Given the description of an element on the screen output the (x, y) to click on. 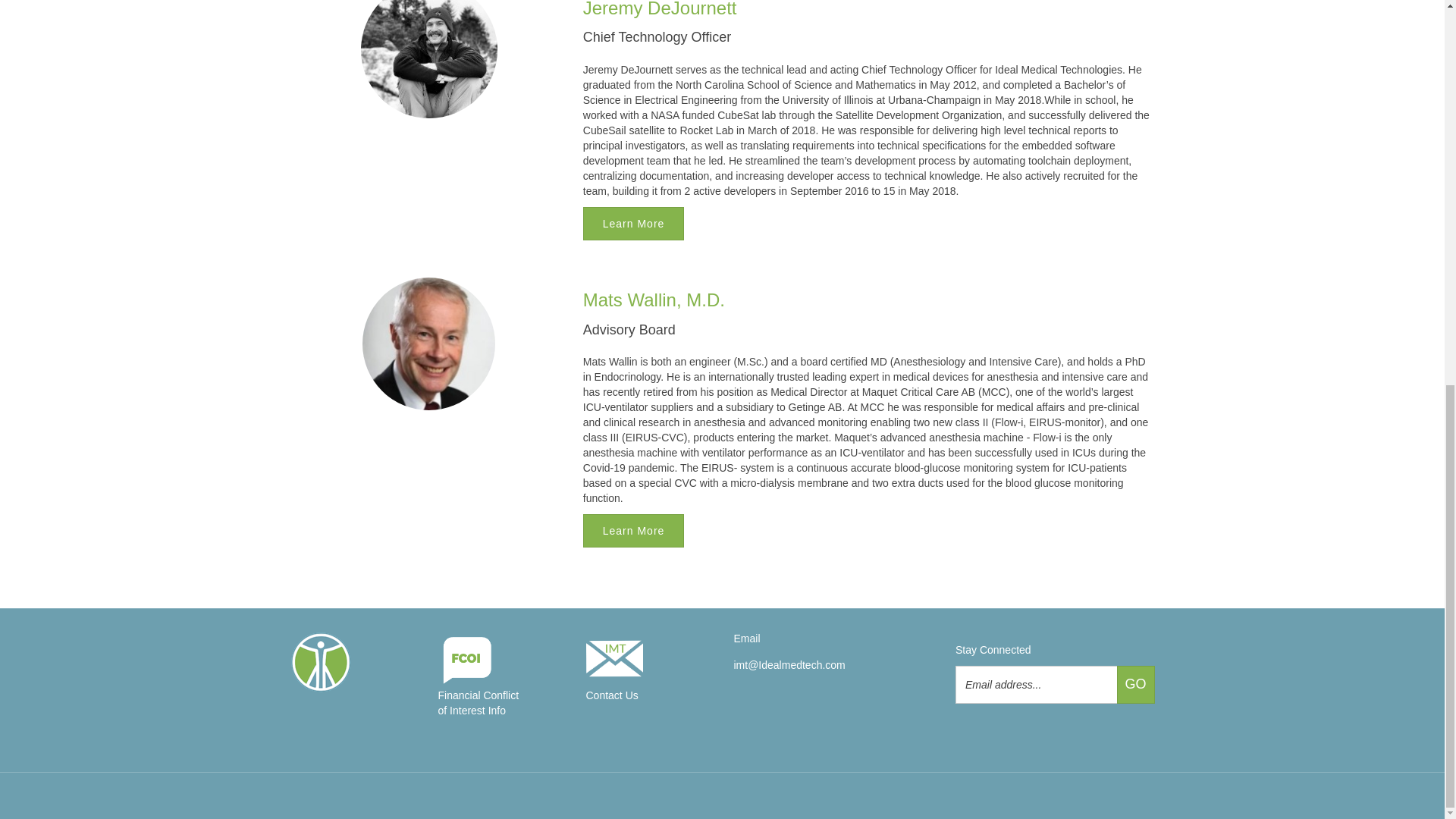
FCOI (478, 684)
Jeremy DeJournett (659, 9)
FCOI (613, 676)
www.idealmedtech.com (351, 661)
